Given the description of an element on the screen output the (x, y) to click on. 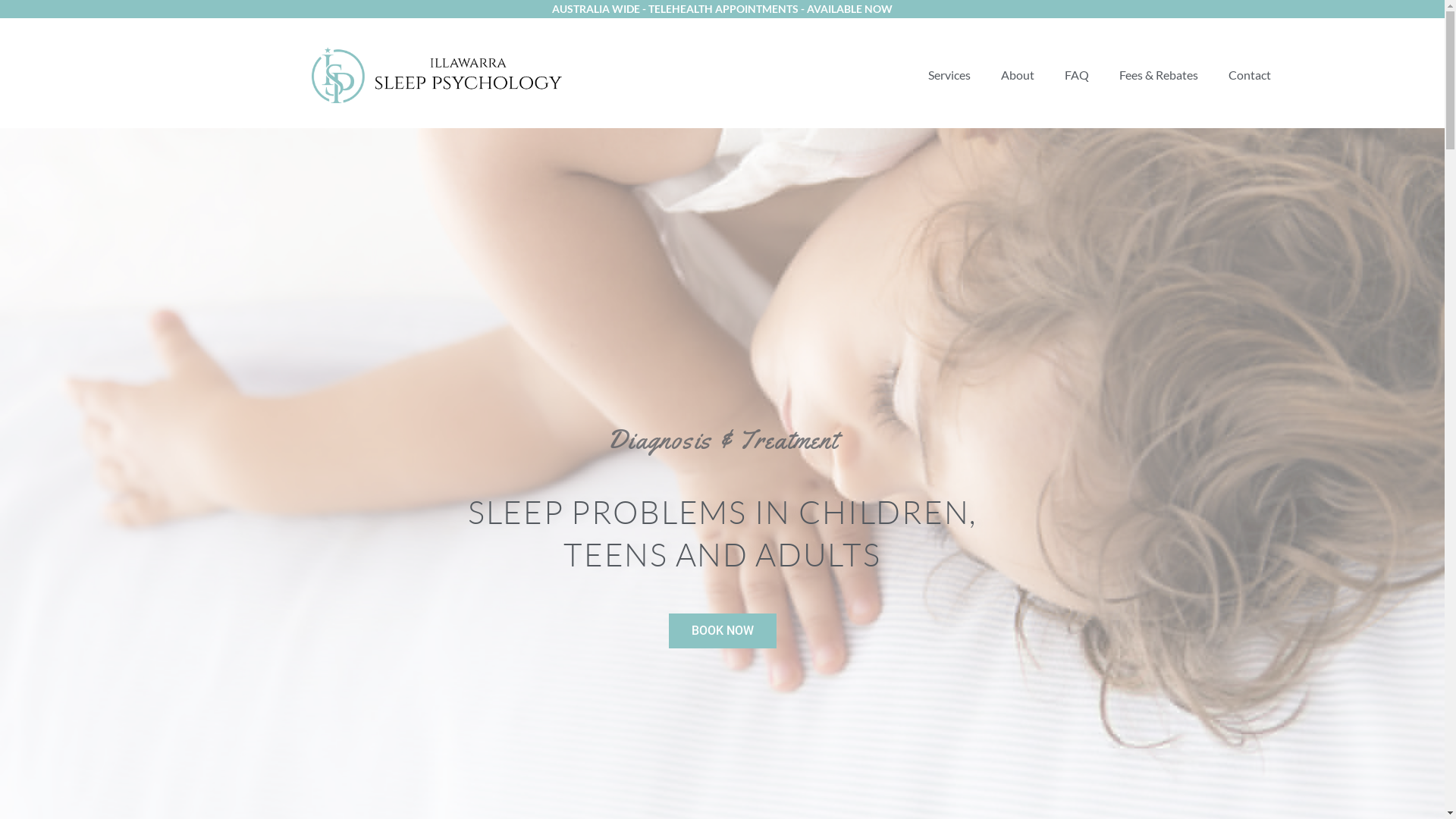
Contact Element type: text (1249, 74)
FAQ Element type: text (1076, 74)
Fees & Rebates Element type: text (1158, 74)
Services Element type: text (949, 74)
BOOK NOW Element type: text (722, 630)
AUSTRALIA WIDE - TELEHEALTH APPOINTMENTS - AVAILABLE NOW Element type: text (722, 8)
About Element type: text (1017, 74)
